Given the description of an element on the screen output the (x, y) to click on. 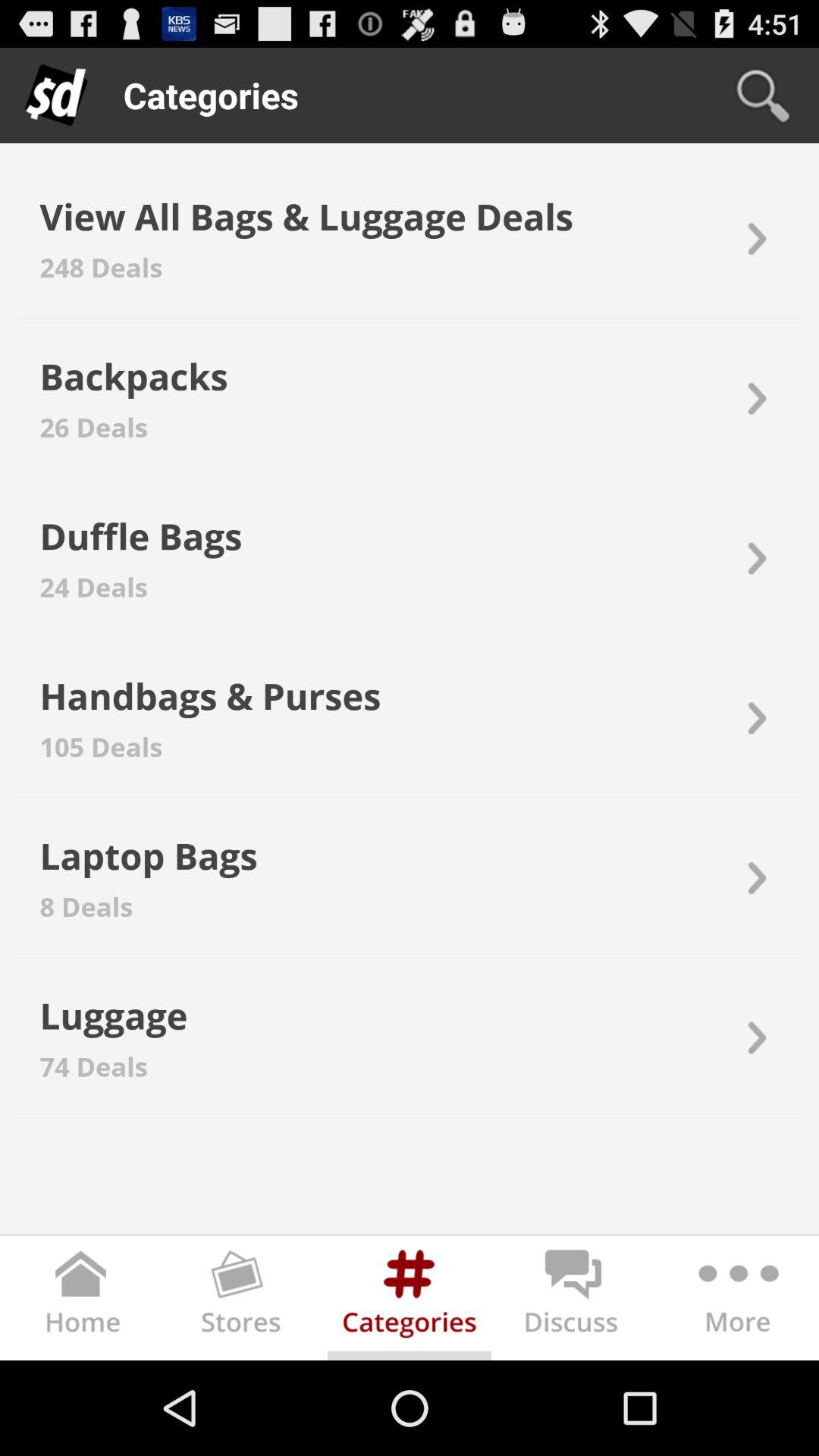
go to stores tab (245, 1301)
